Given the description of an element on the screen output the (x, y) to click on. 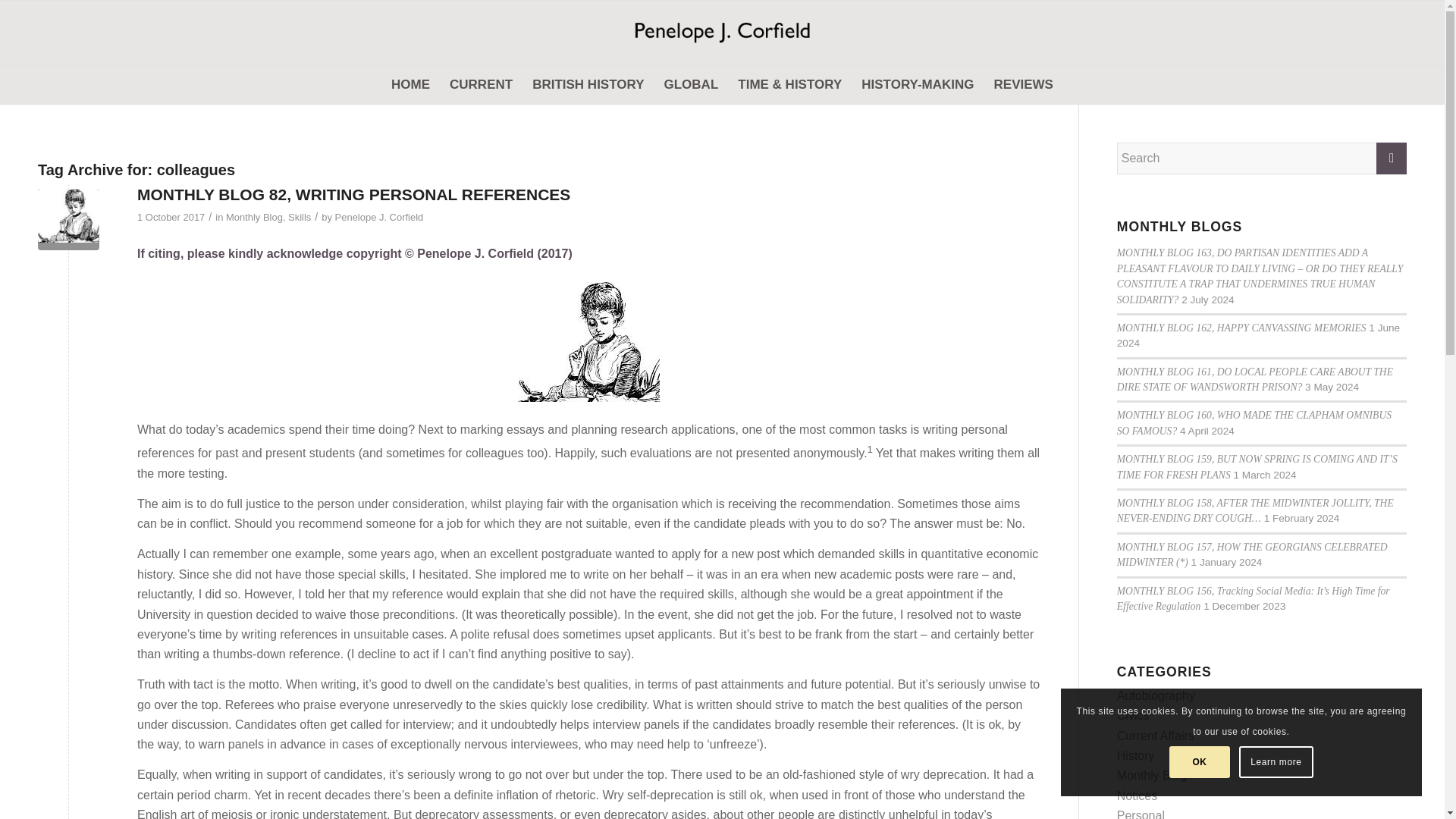
HISTORY-MAKING (917, 85)
CURRENT (480, 85)
BRITISH HISTORY (587, 85)
HOME (410, 85)
HOME (410, 85)
BRITISH HISTORY (587, 85)
GLOBAL (690, 85)
CURRENT (480, 85)
Penelope J. Corfield (721, 32)
